Given the description of an element on the screen output the (x, y) to click on. 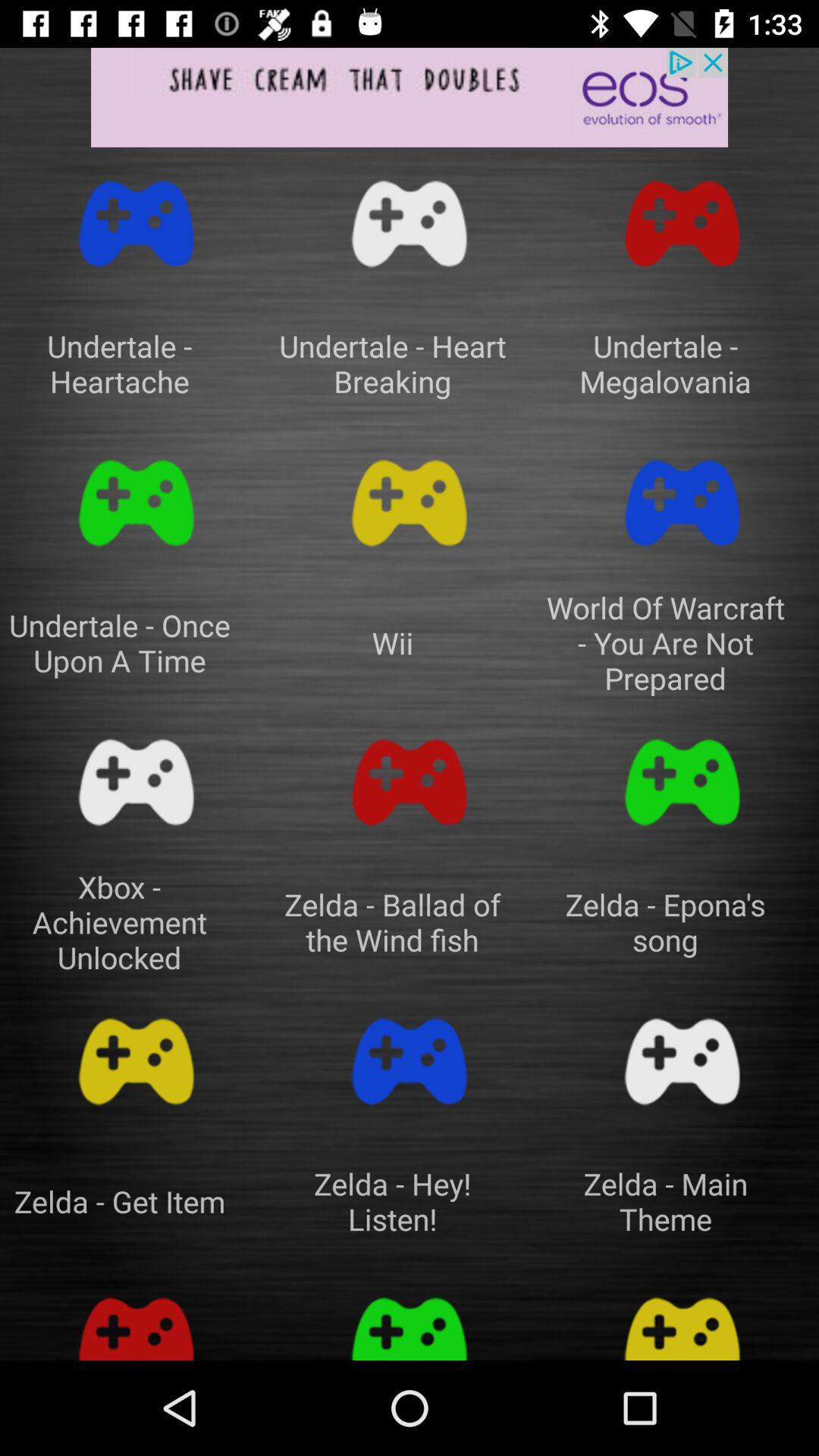
app advertisement (409, 97)
